Given the description of an element on the screen output the (x, y) to click on. 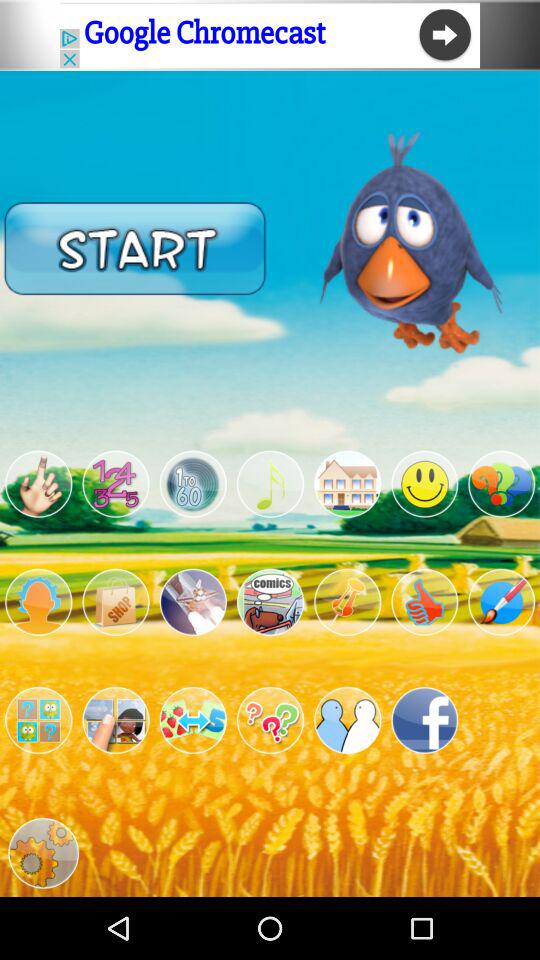
like (424, 602)
